Given the description of an element on the screen output the (x, y) to click on. 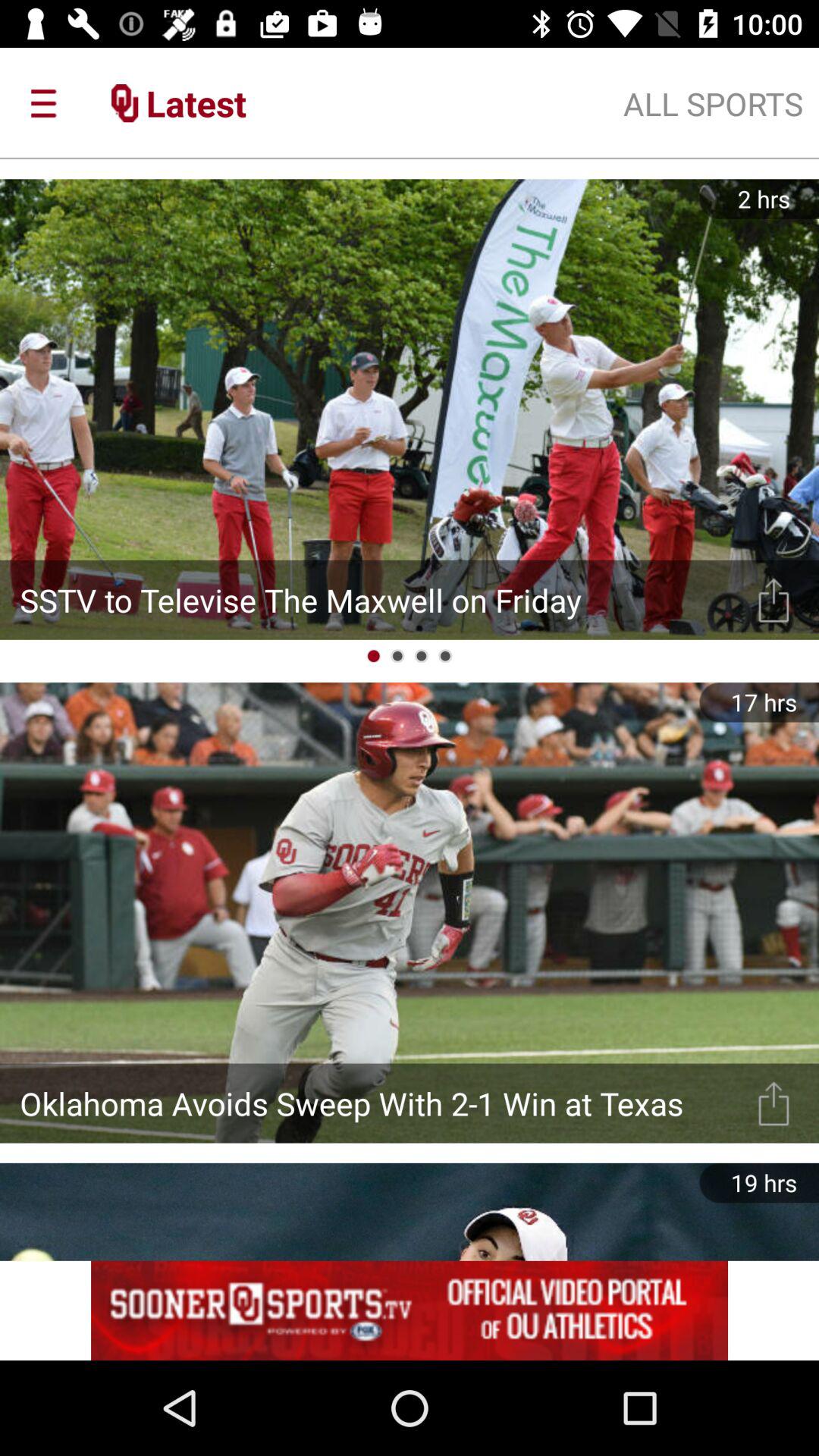
upload file (773, 1103)
